Given the description of an element on the screen output the (x, y) to click on. 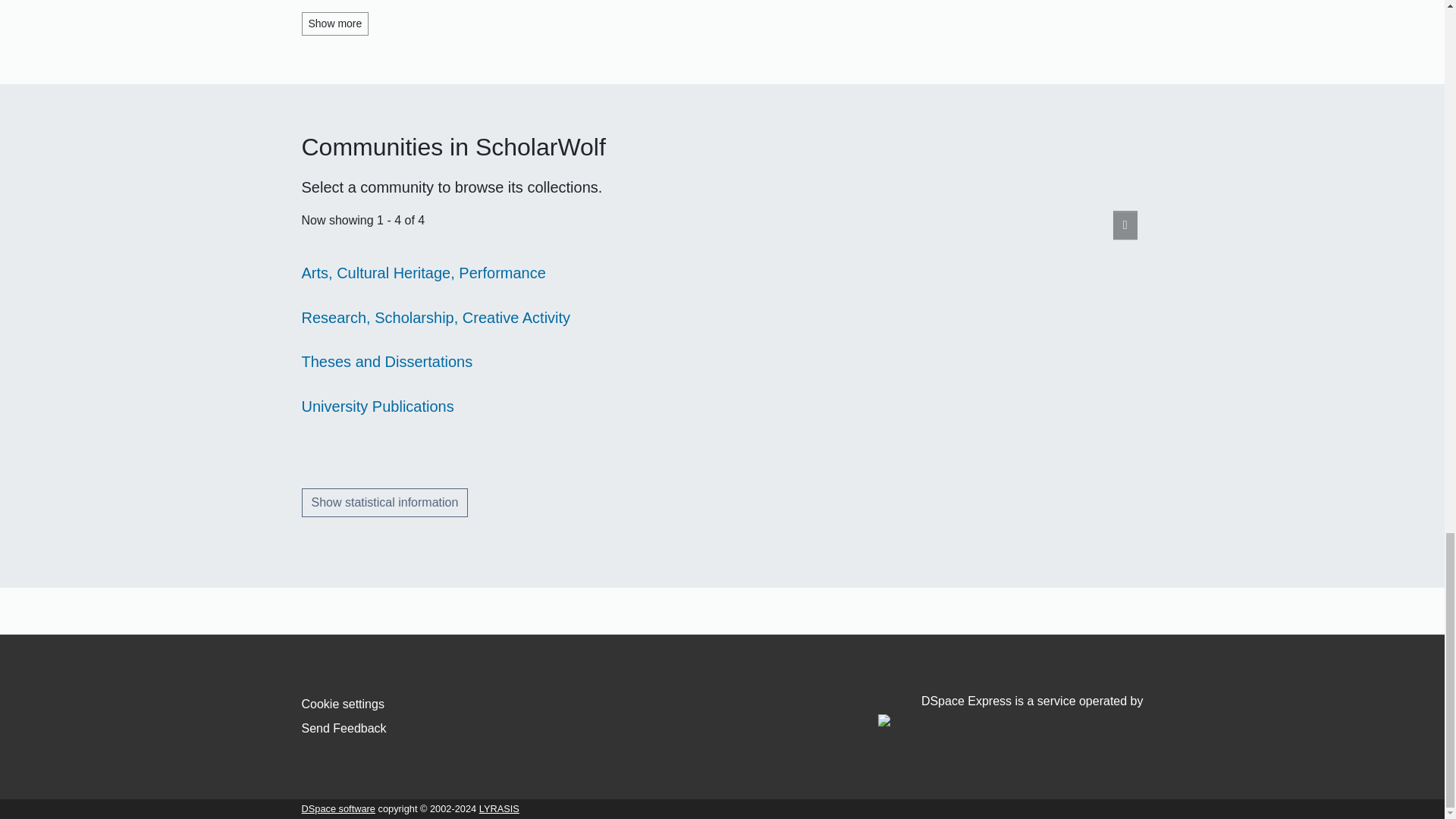
Cookie settings (342, 703)
University Publications (377, 406)
Research, Scholarship, Creative Activity (435, 317)
Theses and Dissertations (387, 361)
Show statistical information (384, 502)
Show more (335, 24)
Arts, Cultural Heritage, Performance (423, 272)
